Given the description of an element on the screen output the (x, y) to click on. 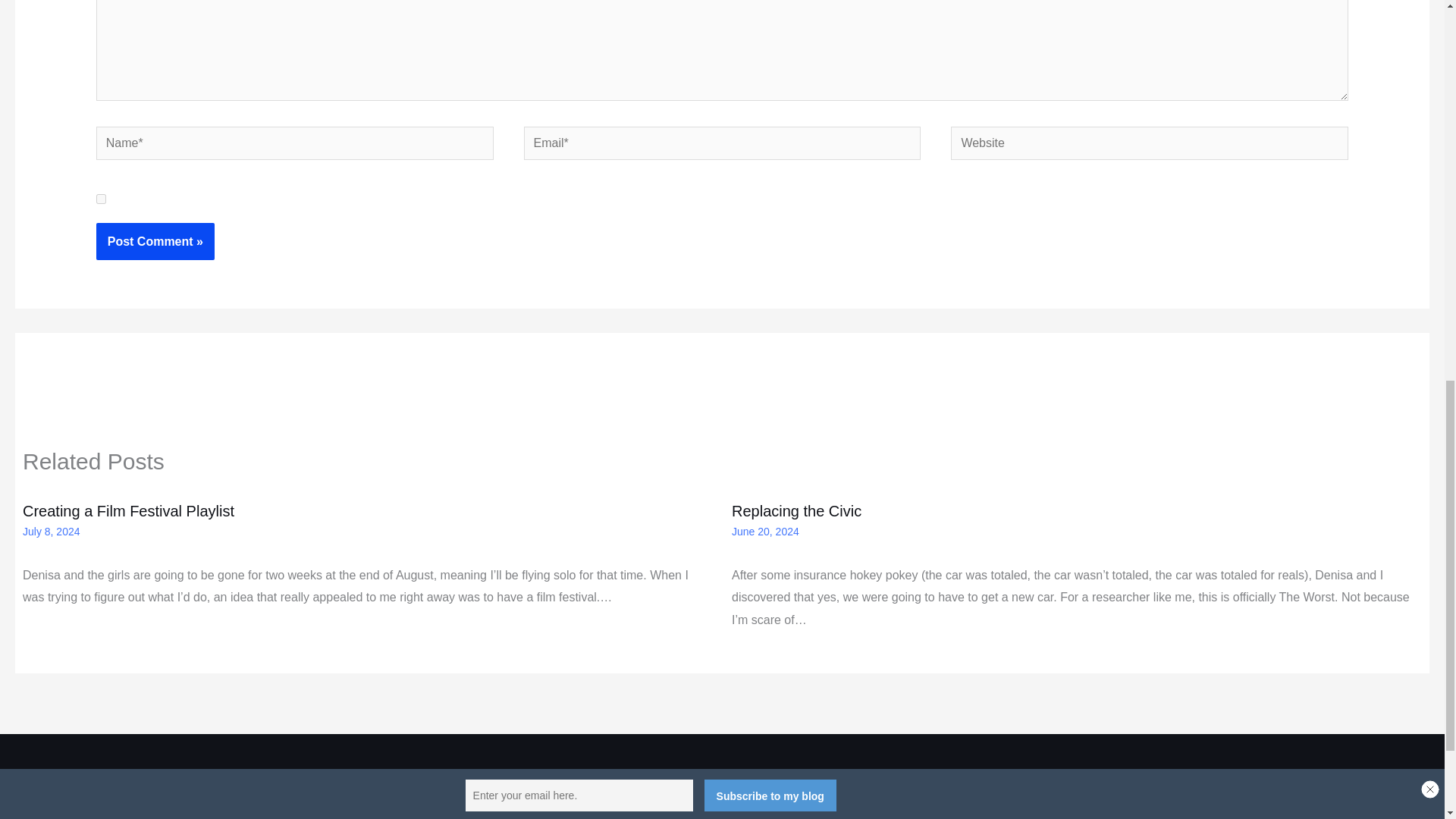
Bio (650, 793)
Subscribe (741, 793)
Books (684, 793)
1 (101, 198)
Creating a Film Festival Playlist (128, 510)
Replacing the Civic (796, 510)
